Given the description of an element on the screen output the (x, y) to click on. 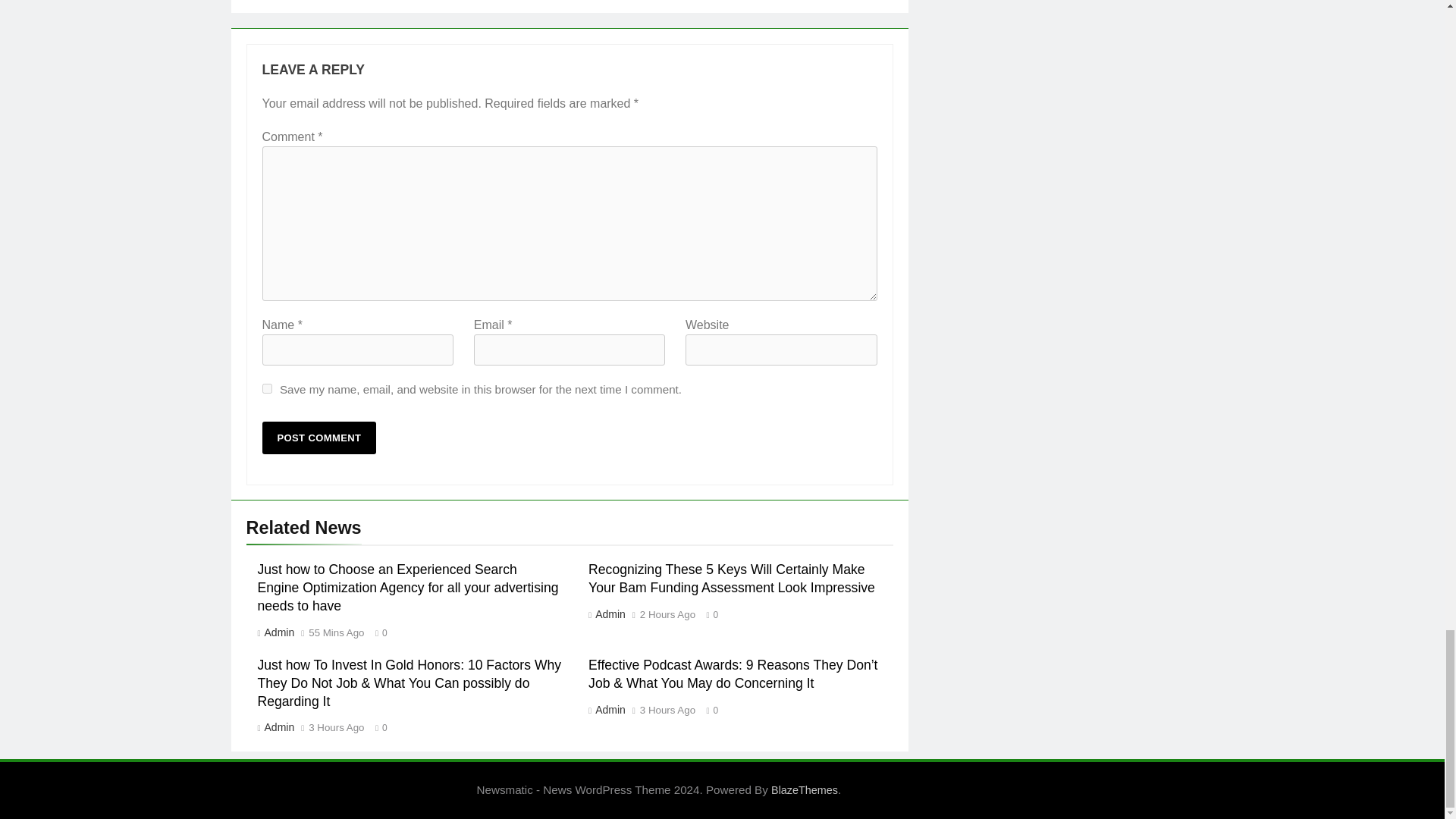
Post Comment (319, 437)
yes (267, 388)
